Given the description of an element on the screen output the (x, y) to click on. 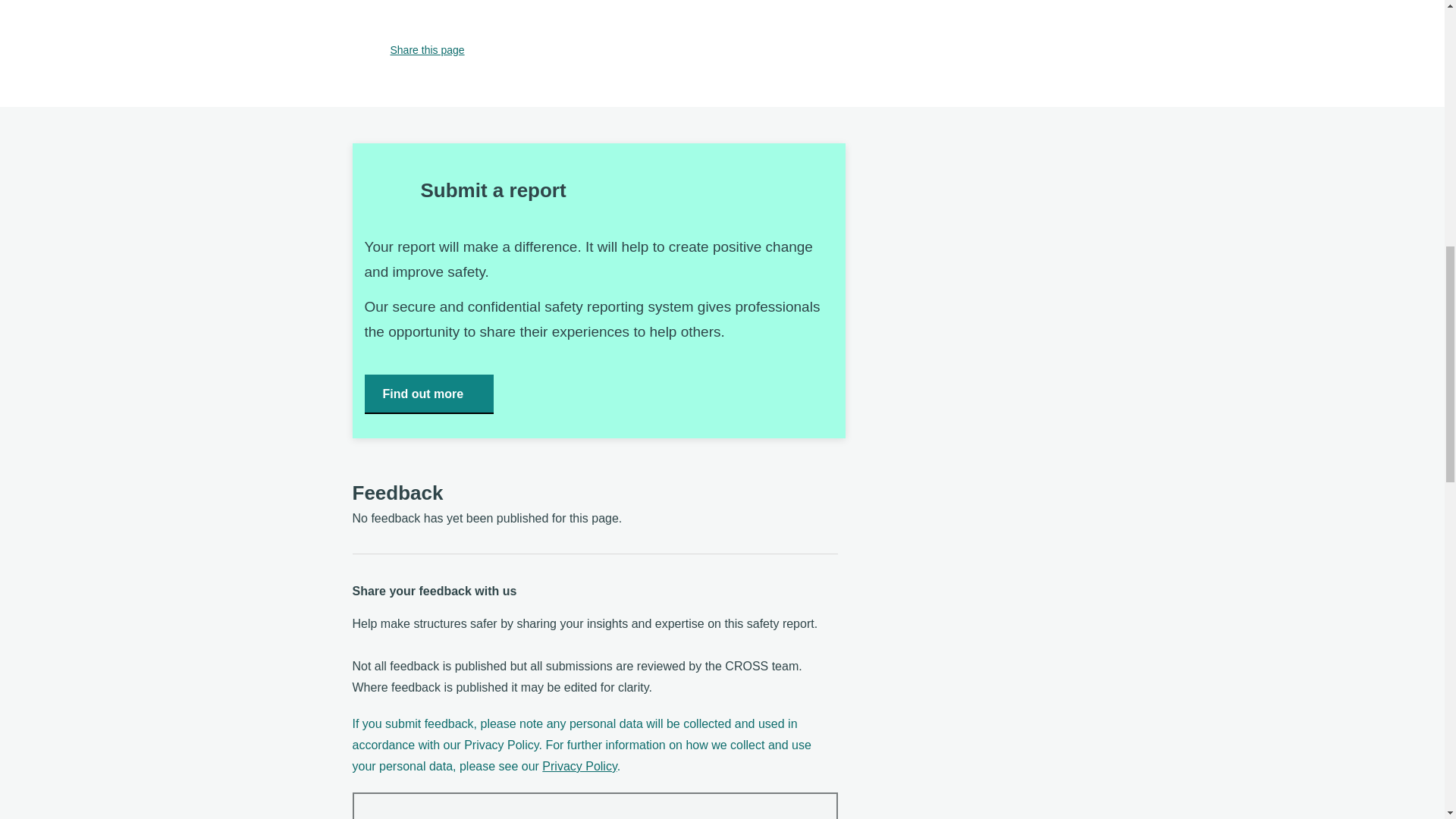
Privacy Policy (578, 767)
Find out more (428, 394)
Share this page (408, 50)
